Given the description of an element on the screen output the (x, y) to click on. 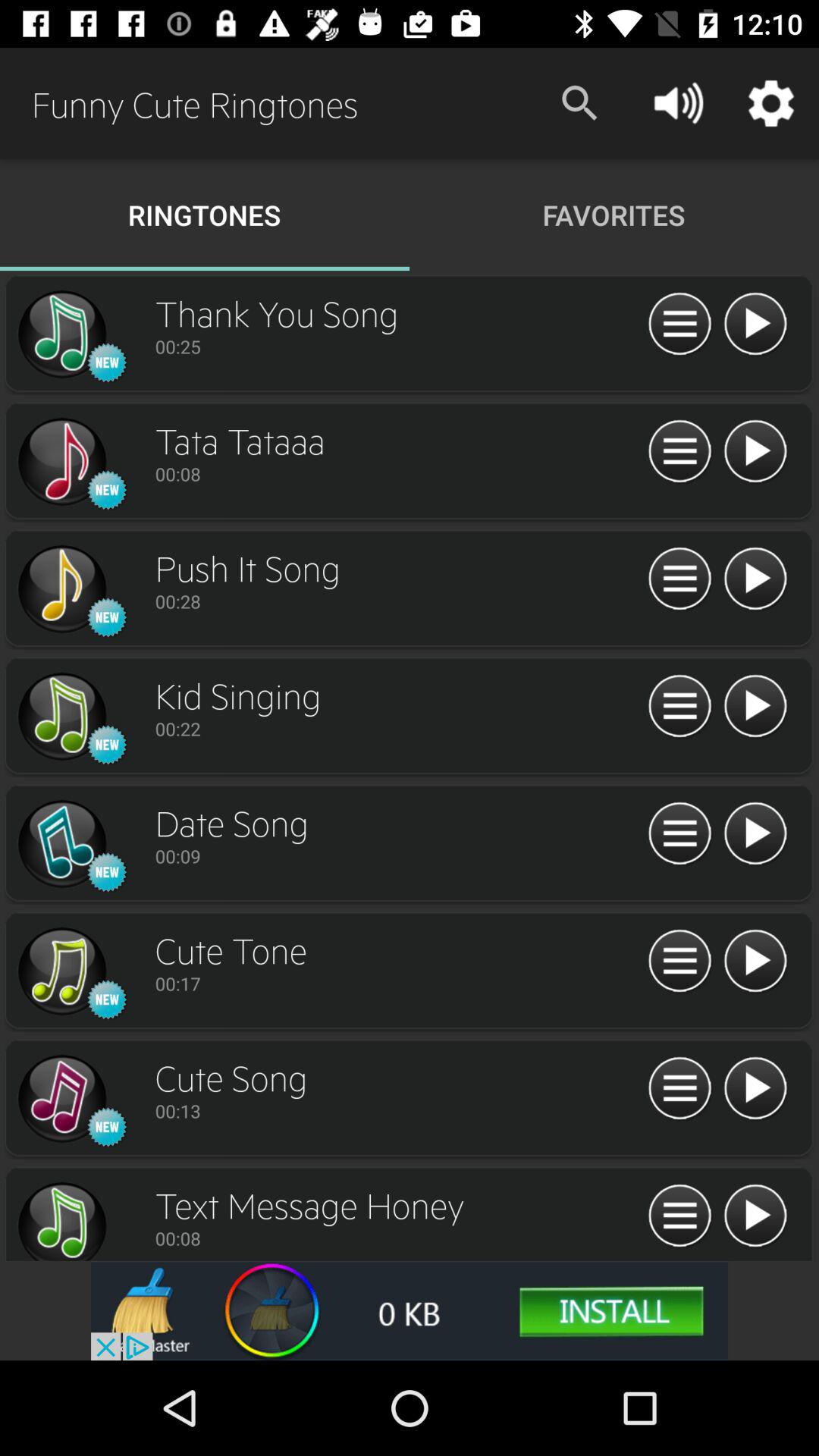
play song (755, 706)
